Given the description of an element on the screen output the (x, y) to click on. 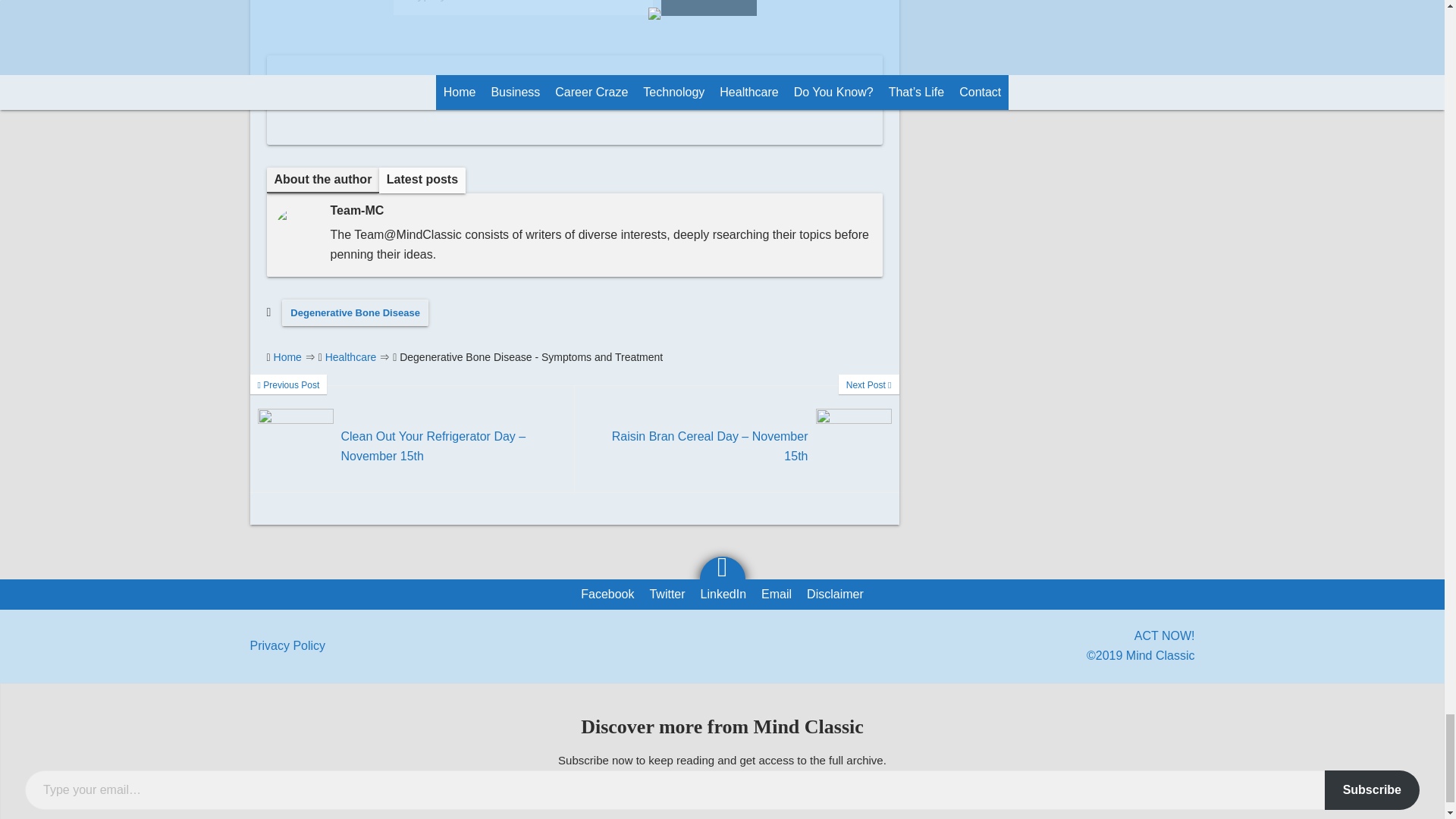
Please fill in this field. (523, 7)
